Given the description of an element on the screen output the (x, y) to click on. 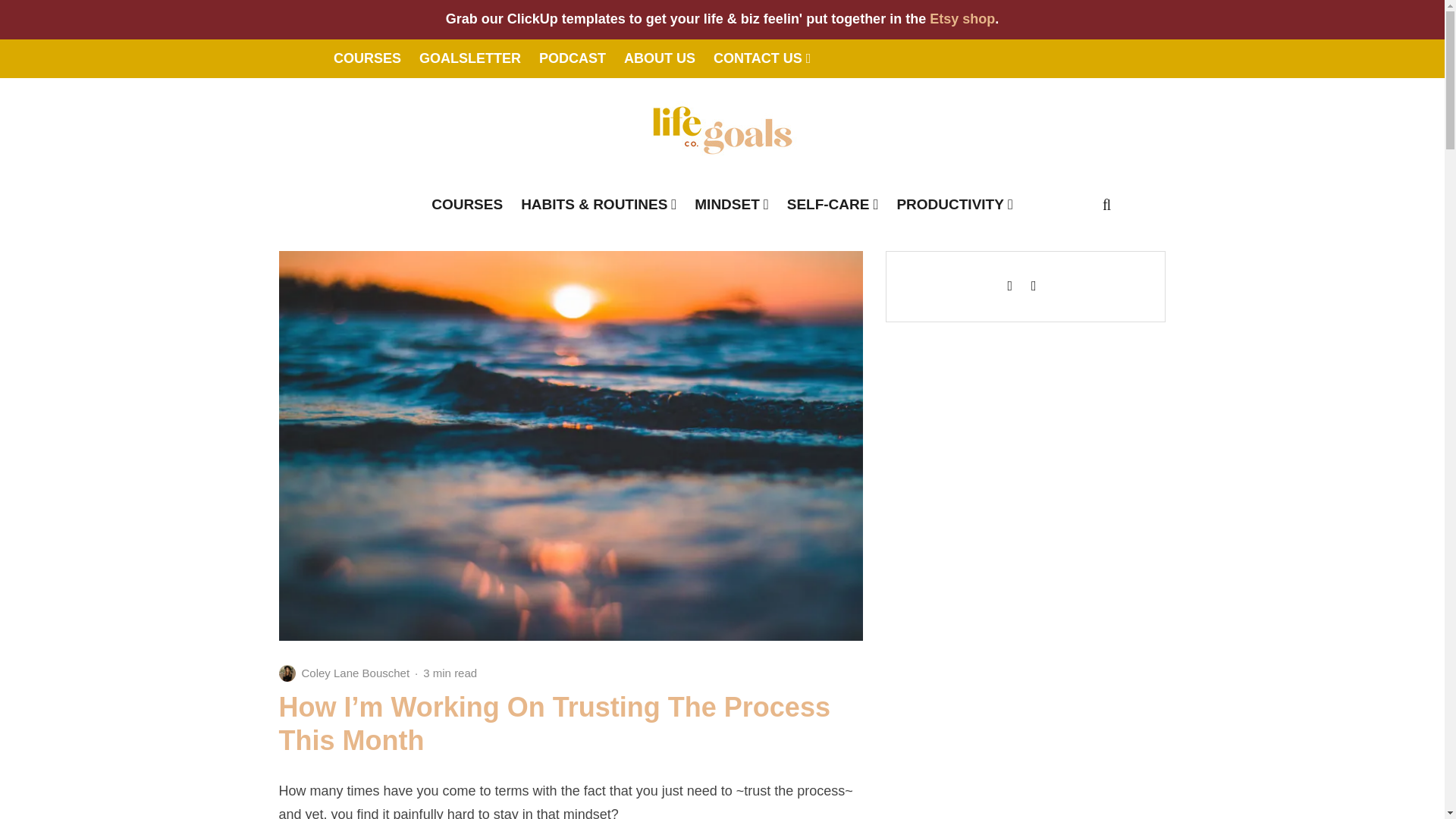
COURSES (467, 204)
ABOUT US (659, 58)
GOALSLETTER (469, 58)
MINDSET (731, 204)
Etsy shop (962, 18)
PODCAST (571, 58)
COURSES (367, 58)
CONTACT US (761, 58)
